Given the description of an element on the screen output the (x, y) to click on. 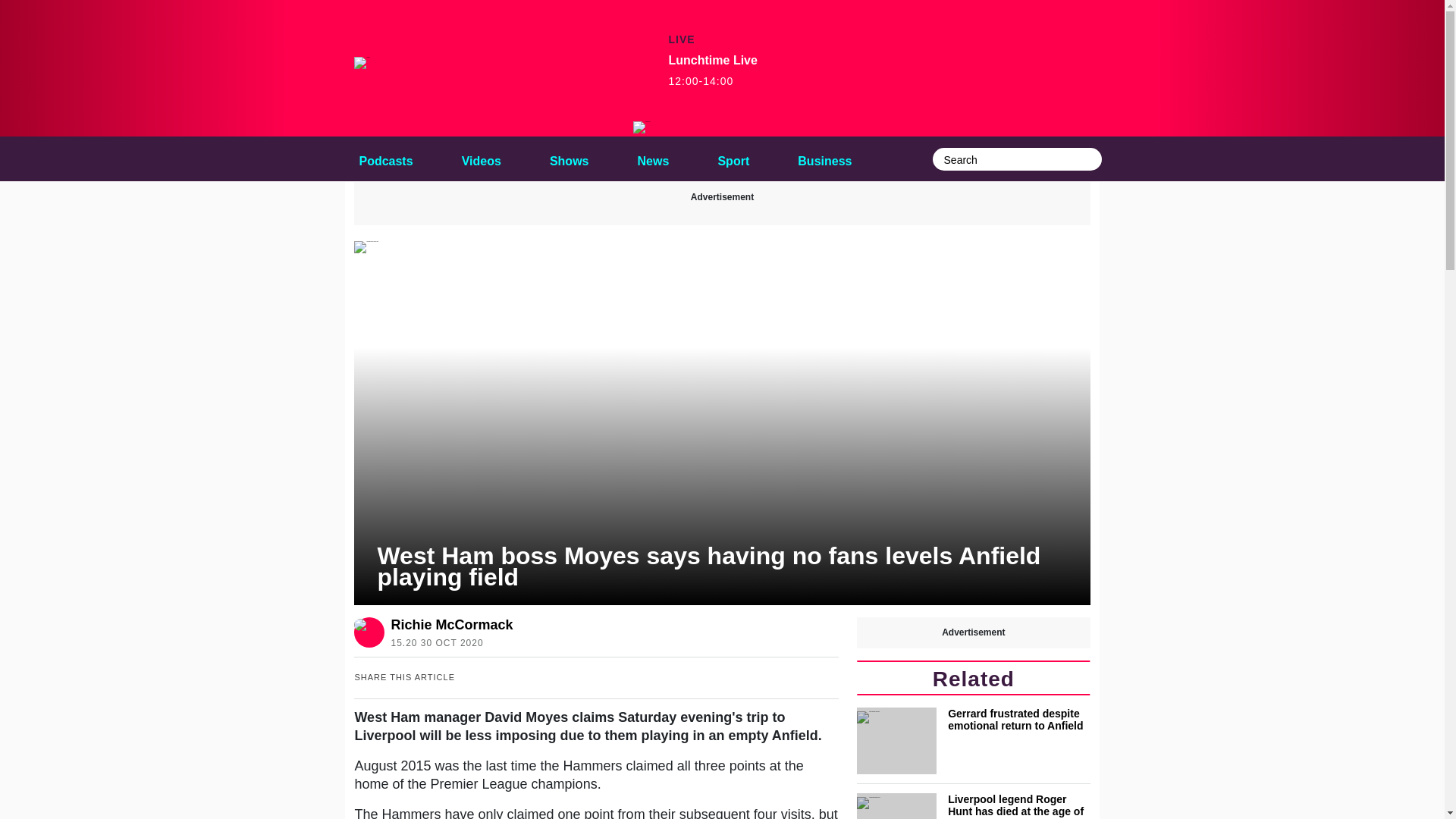
Lunchtime Live (641, 127)
News (653, 158)
Sport (733, 158)
Sport (733, 158)
Business (824, 158)
Videos (481, 158)
Videos (481, 158)
Business (824, 158)
Richie McCormack (451, 624)
Podcasts (384, 158)
Shows (569, 158)
Podcasts (384, 158)
News (653, 158)
